Given the description of an element on the screen output the (x, y) to click on. 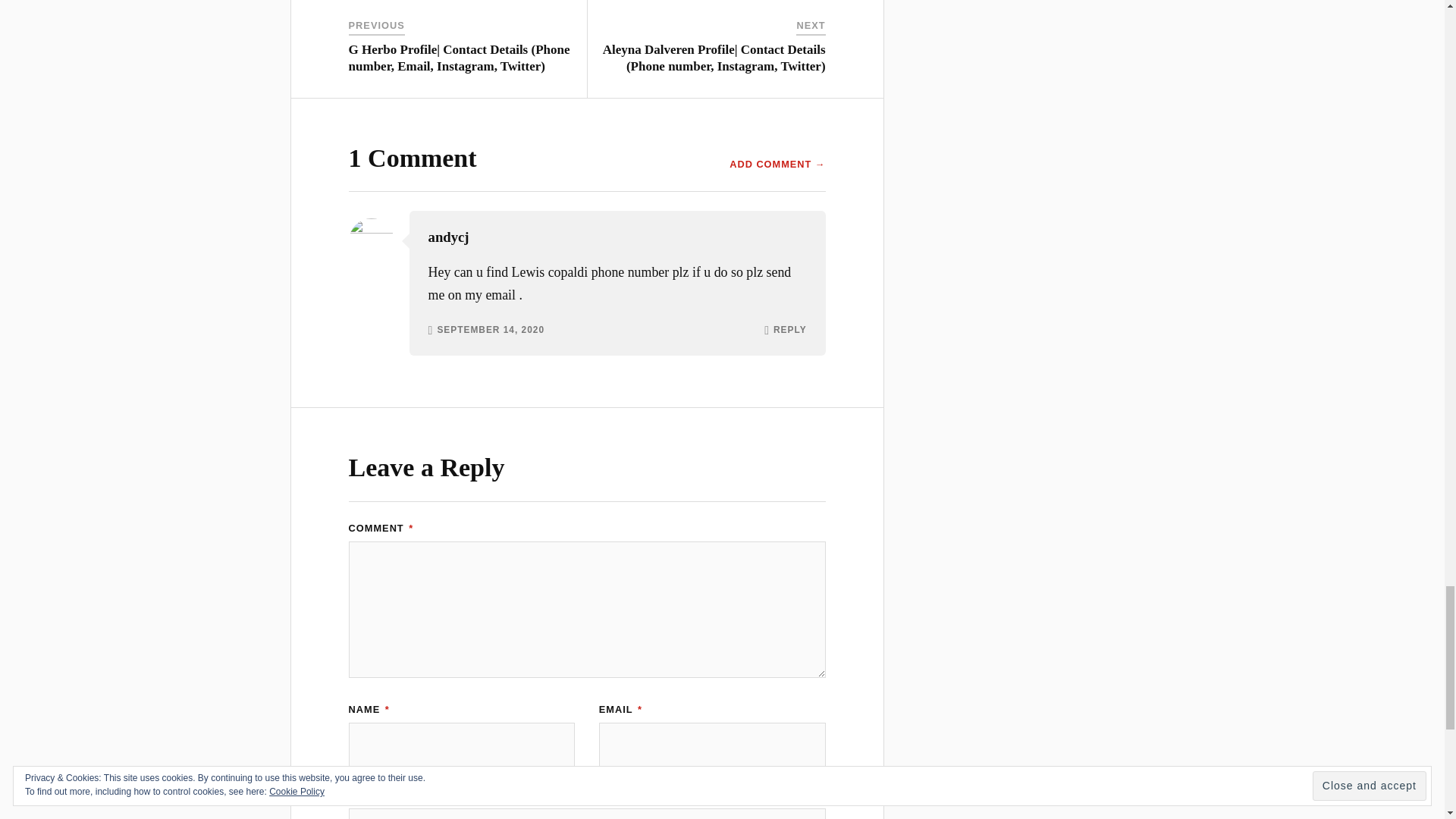
REPLY (789, 329)
SEPTEMBER 14, 2020 (490, 329)
